Given the description of an element on the screen output the (x, y) to click on. 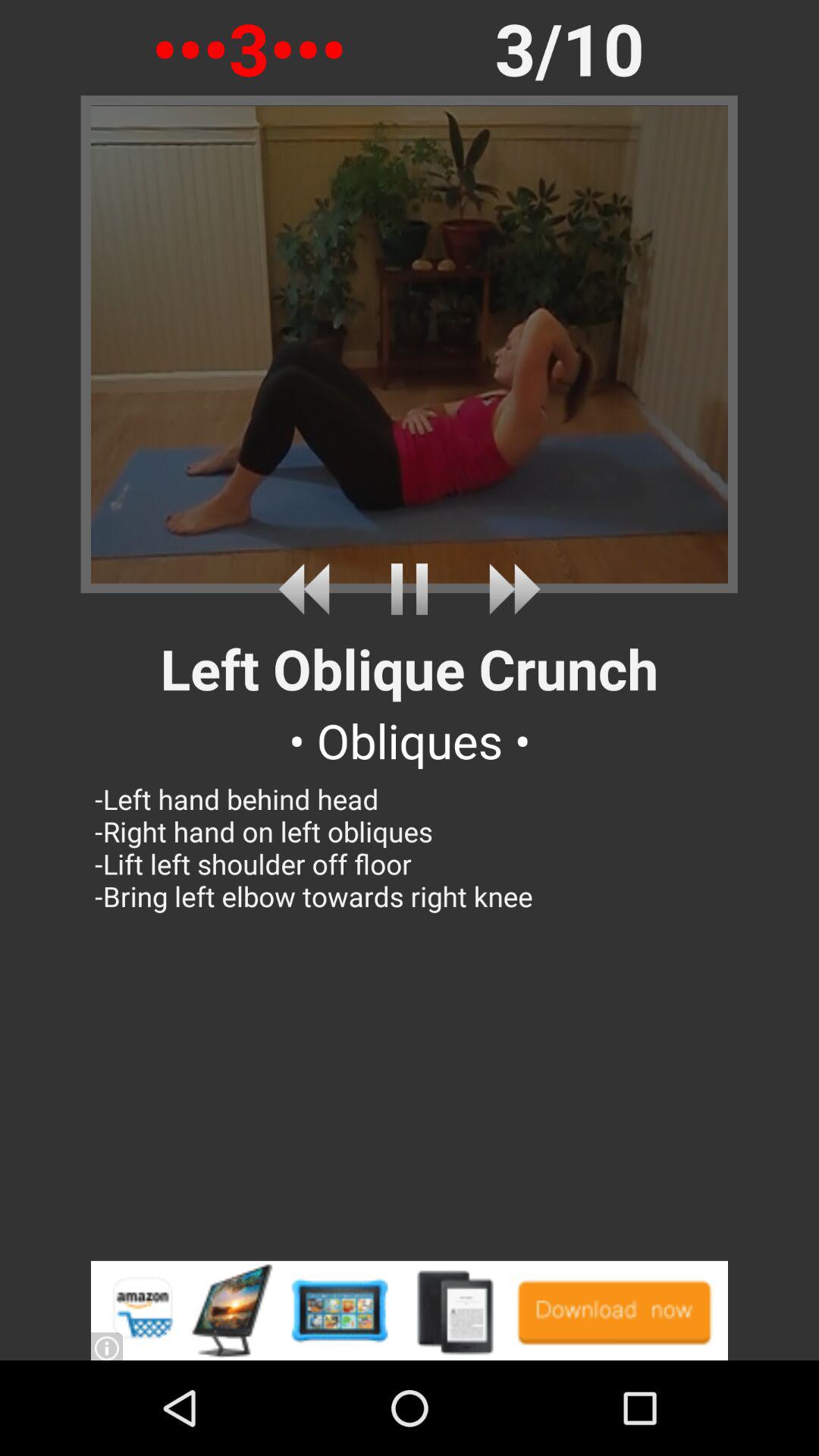
go back (309, 589)
